Given the description of an element on the screen output the (x, y) to click on. 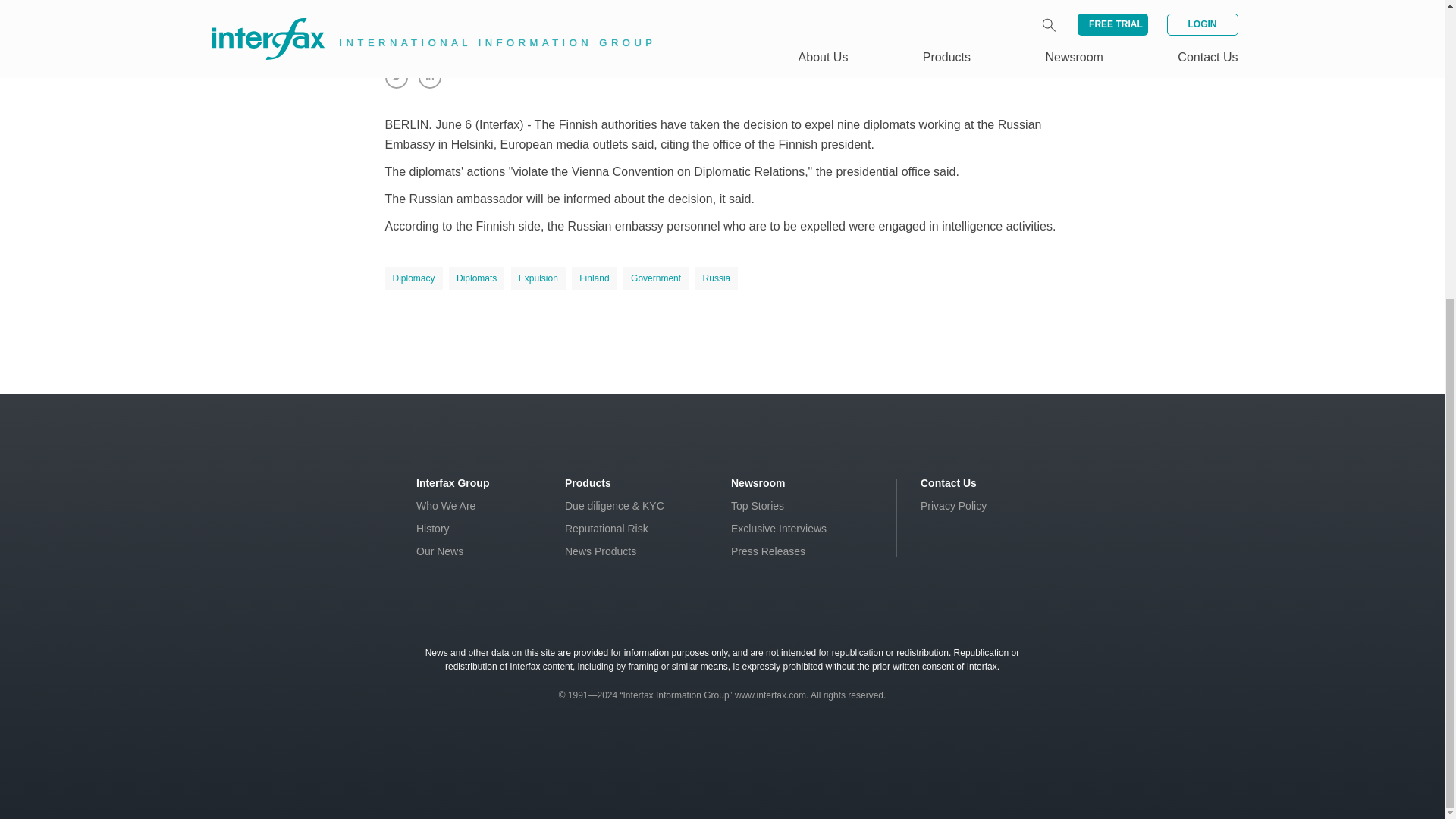
Expulsion (538, 277)
Diplomacy (413, 277)
Finland (593, 277)
Diplomats (475, 277)
